Given the description of an element on the screen output the (x, y) to click on. 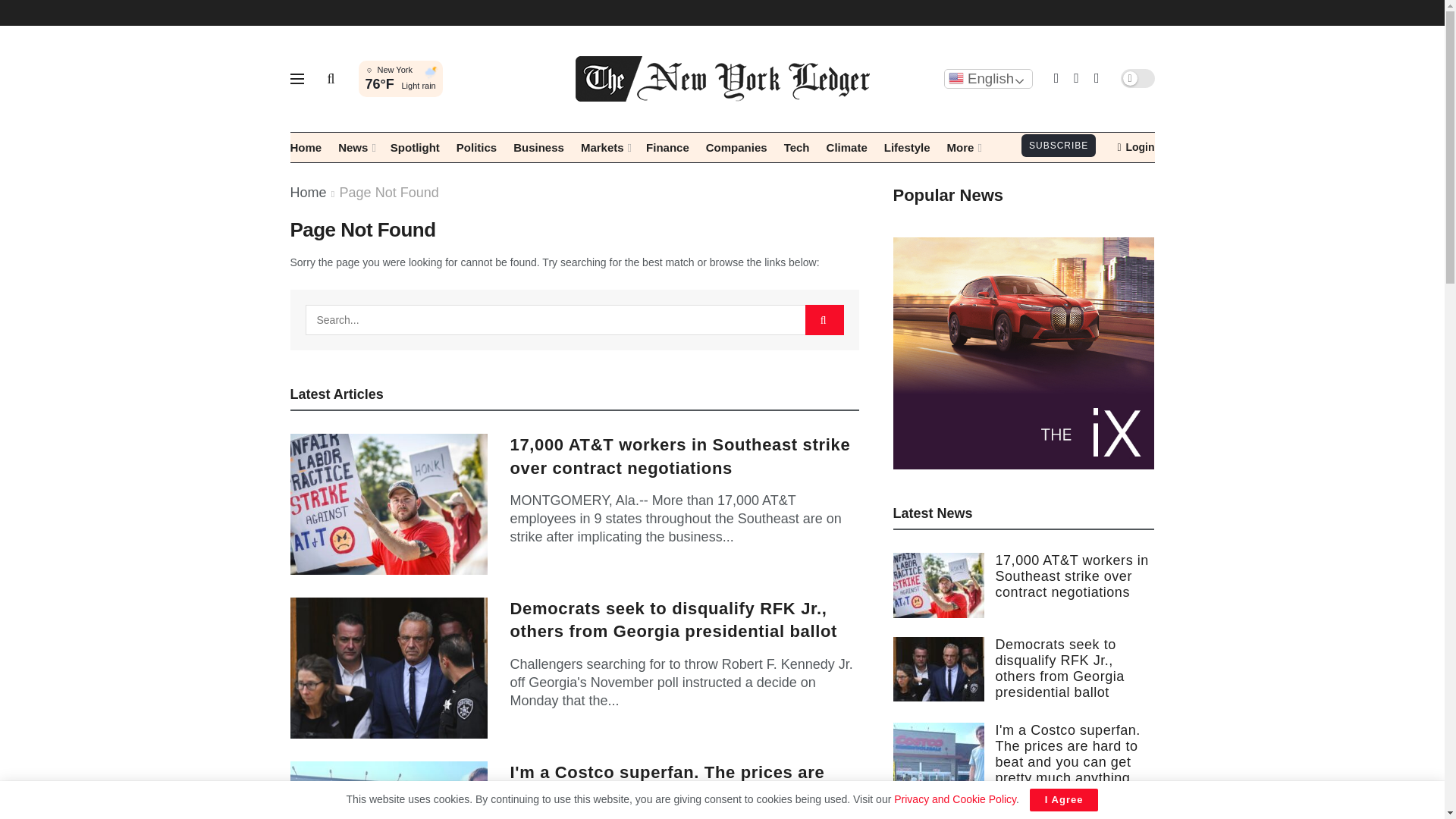
Home (305, 147)
English (987, 78)
News (355, 147)
